Given the description of an element on the screen output the (x, y) to click on. 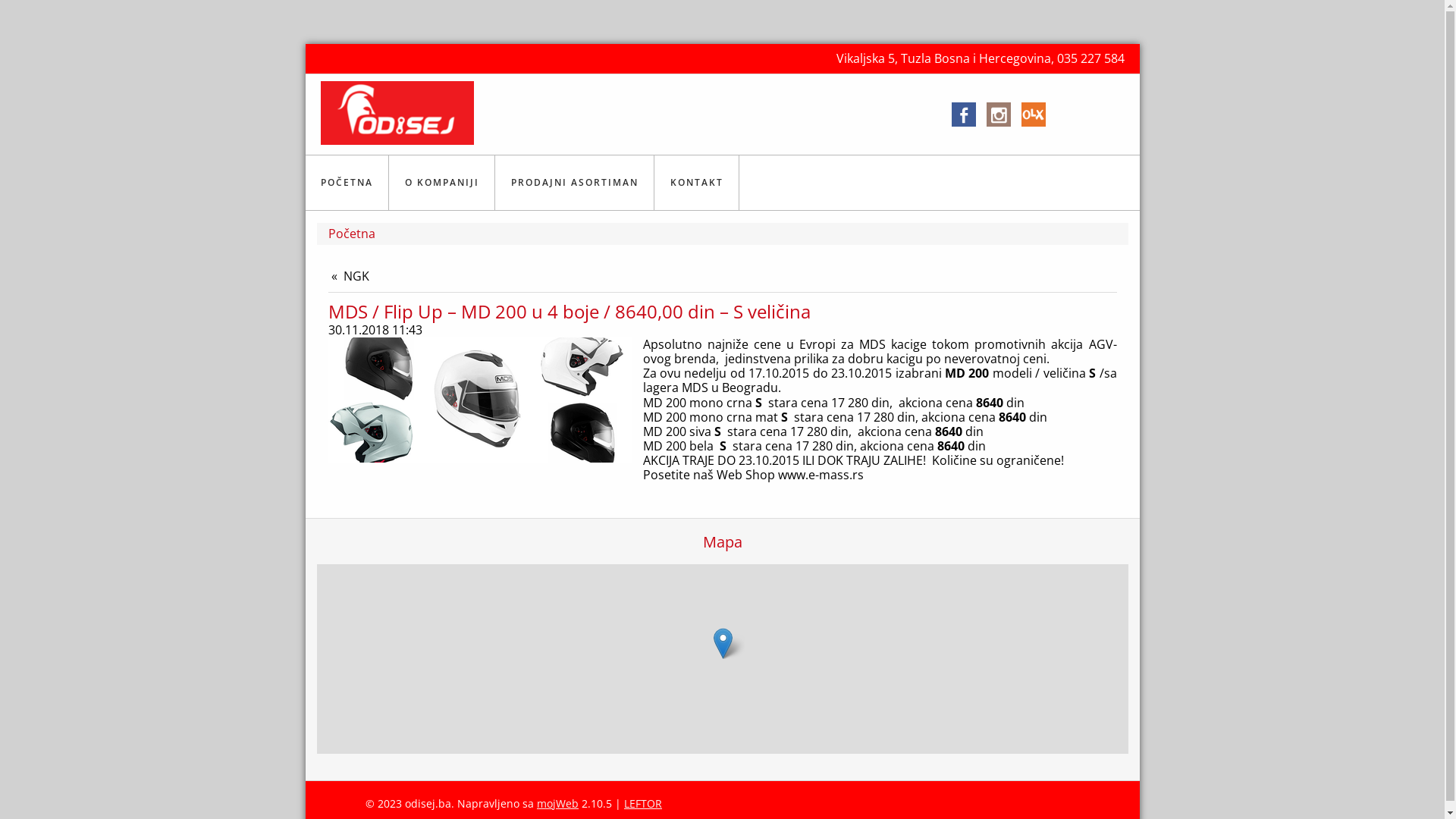
mojWeb Element type: text (557, 803)
LEFTOR Element type: text (643, 803)
NGK Element type: text (349, 275)
O KOMPANIJI Element type: text (442, 182)
PRODAJNI ASORTIMAN Element type: text (574, 182)
KONTAKT Element type: text (697, 182)
